Given the description of an element on the screen output the (x, y) to click on. 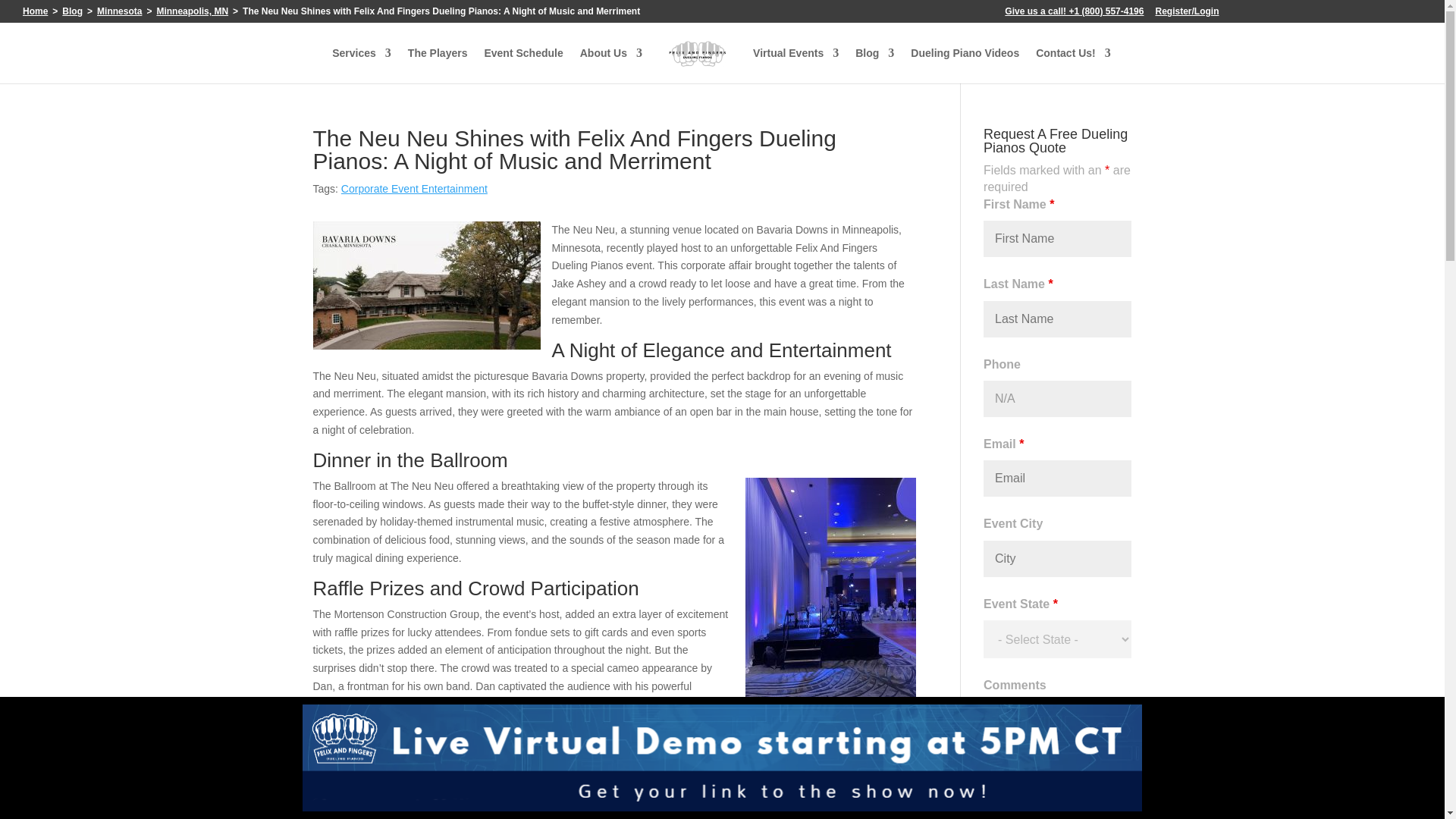
Blog (72, 10)
Minneapolis, MN (191, 10)
Contact Us! (1072, 65)
Virtual Events (795, 65)
Minnesota (119, 10)
Home (35, 10)
Services (361, 65)
About Us (610, 65)
Blog (874, 65)
Event Schedule (522, 65)
Dueling Piano Videos (965, 65)
The Players (437, 65)
